Given the description of an element on the screen output the (x, y) to click on. 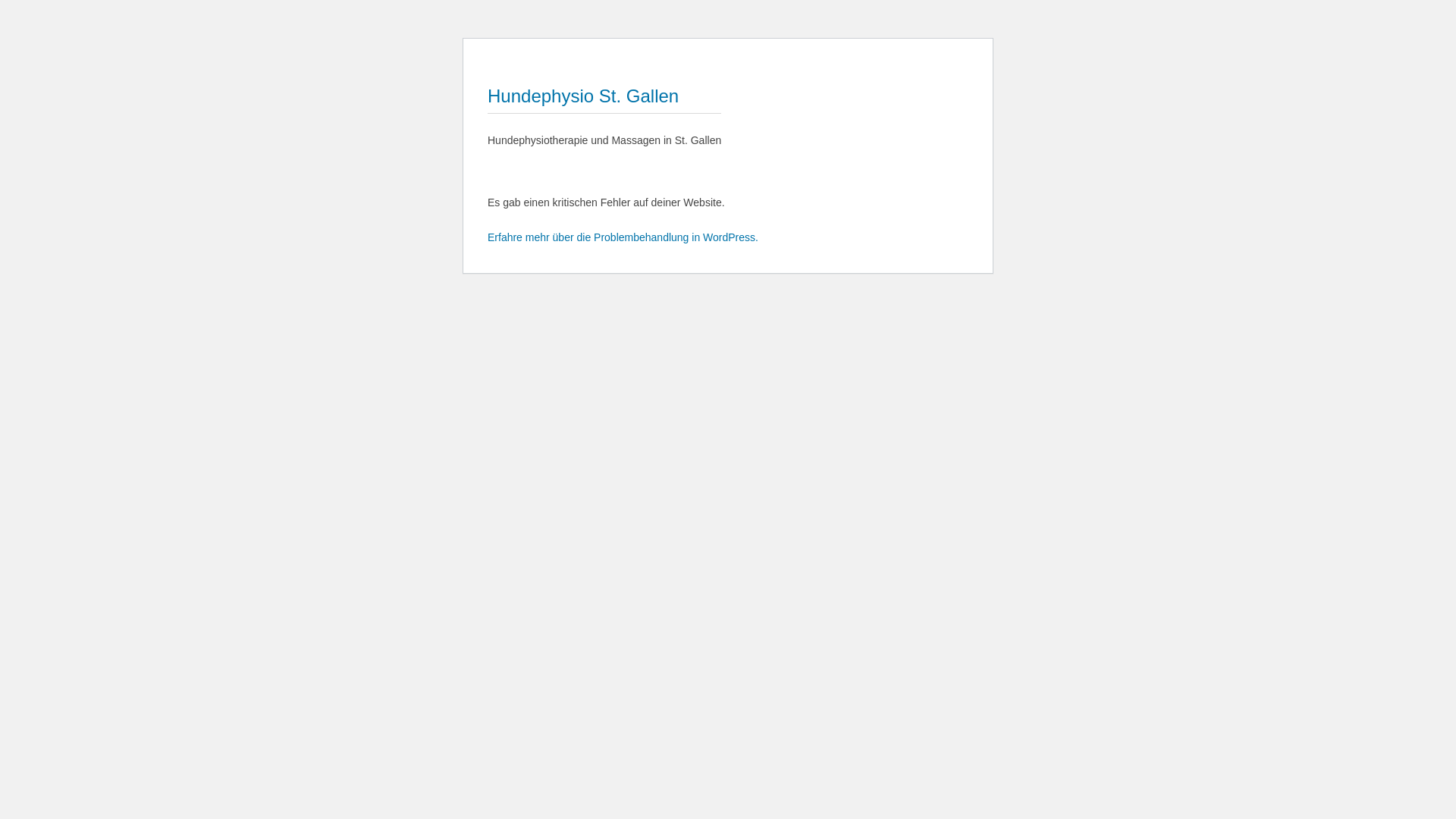
Hundephysio St. Gallen Element type: text (582, 95)
Zum Inhalt wechseln Element type: text (486, 50)
